Given the description of an element on the screen output the (x, y) to click on. 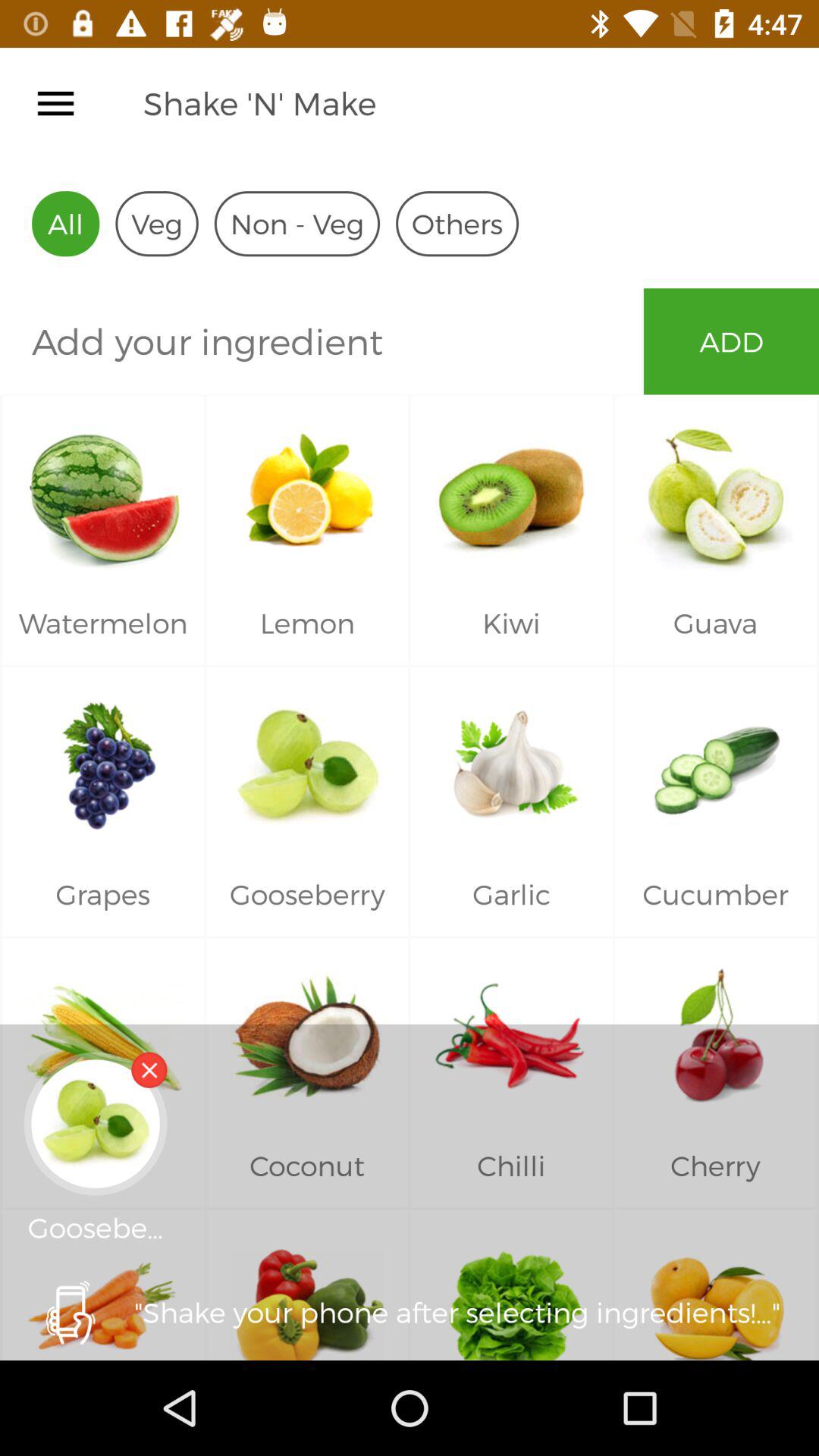
toggle menu (55, 103)
